Given the description of an element on the screen output the (x, y) to click on. 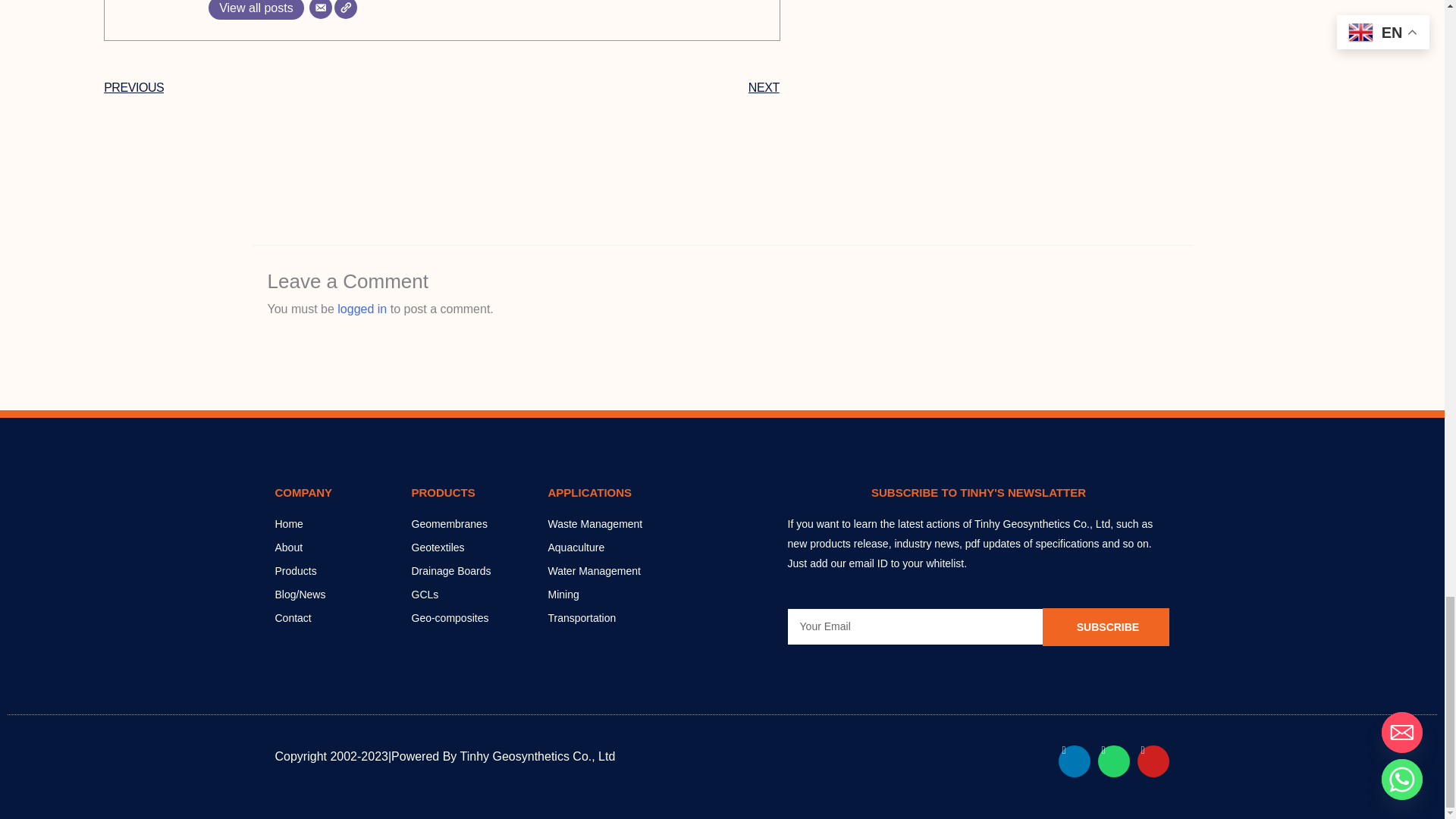
View all posts (256, 9)
